Given the description of an element on the screen output the (x, y) to click on. 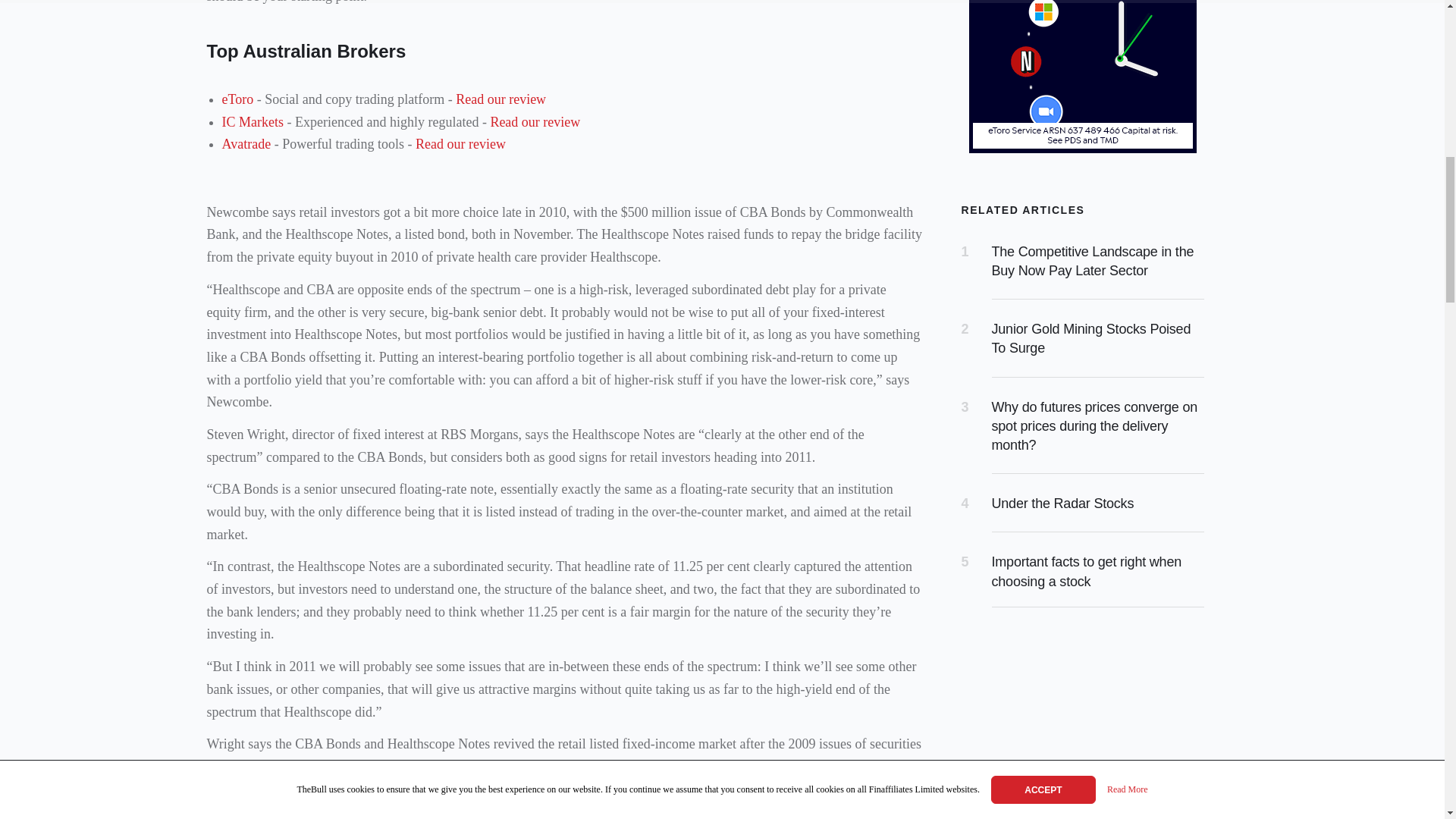
Avatrade (245, 143)
Junior Gold Mining Stocks Poised To Surge (1091, 338)
Junior Gold Mining Stocks Poised To Surge (1091, 338)
Read our review (500, 99)
Important facts to get right when choosing a stock (1086, 571)
Important facts to get right when choosing a stock (1086, 571)
IC Markets (251, 121)
Read our review (459, 143)
eToro (237, 99)
Under the Radar Stocks (1062, 503)
Read our review (534, 121)
Under the Radar Stocks (1062, 503)
The Competitive Landscape in the Buy Now Pay Later Sector (1092, 261)
